Given the description of an element on the screen output the (x, y) to click on. 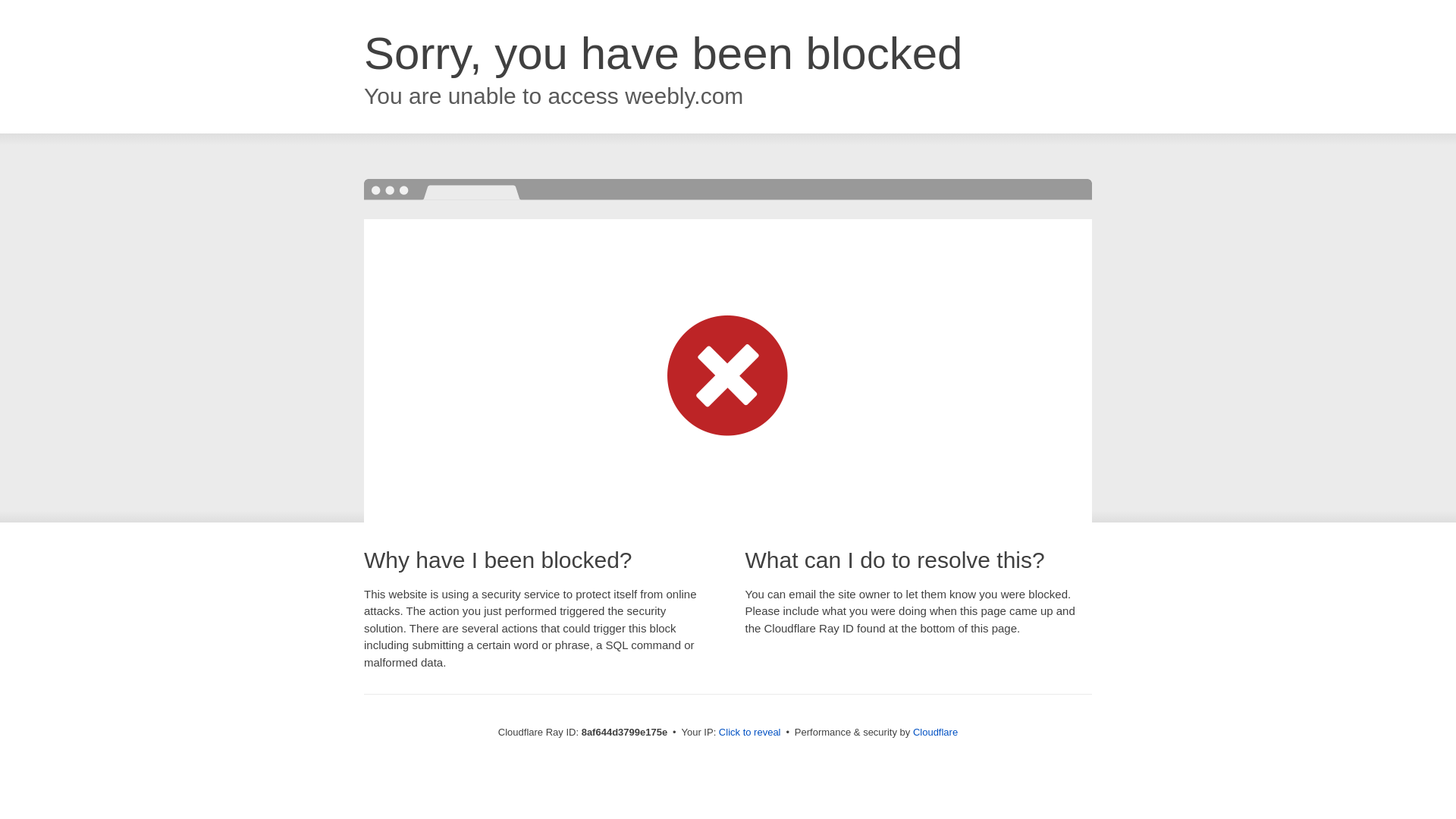
Click to reveal (749, 732)
Cloudflare (935, 731)
